Given the description of an element on the screen output the (x, y) to click on. 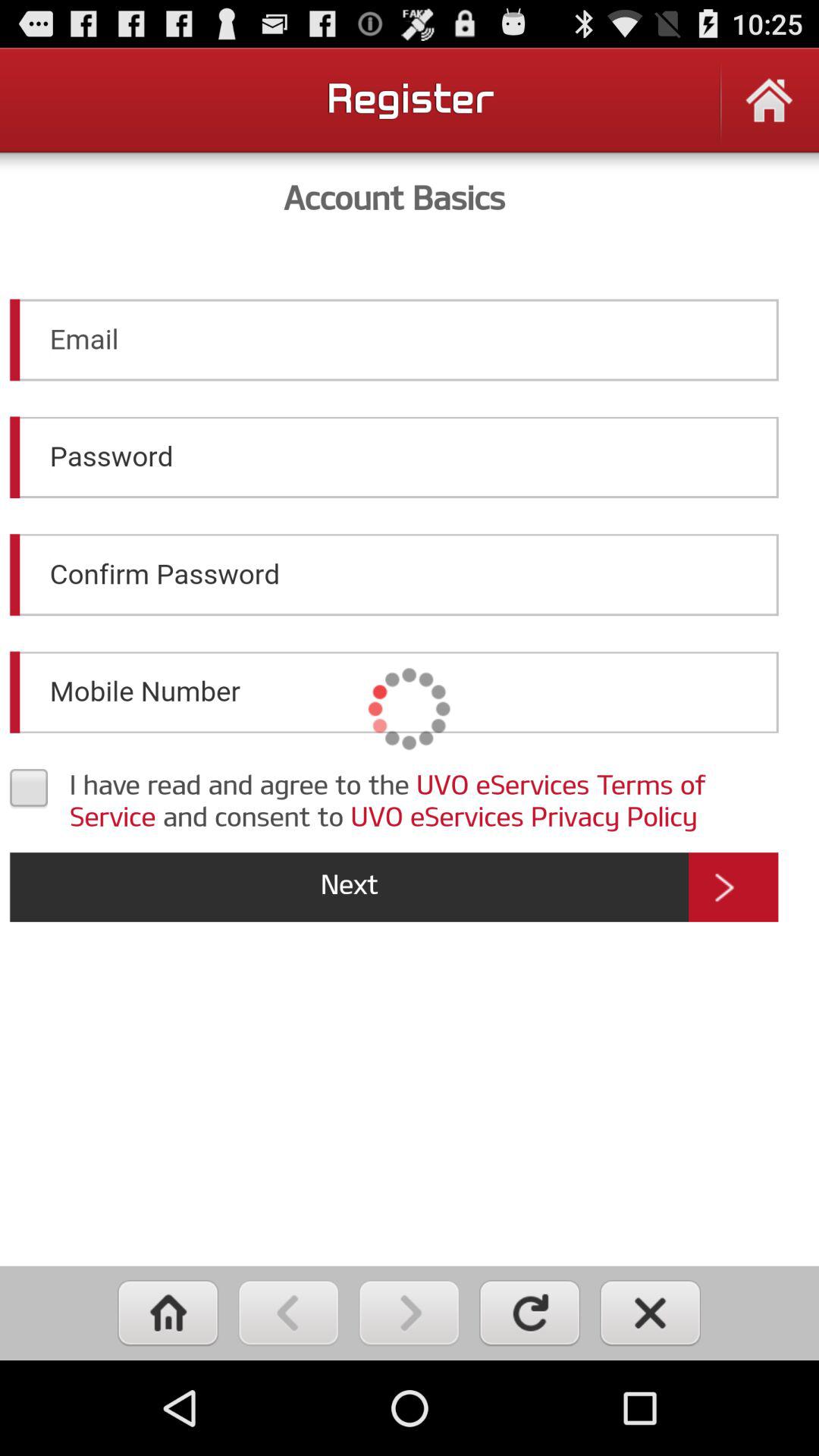
go to home page (167, 1313)
